Given the description of an element on the screen output the (x, y) to click on. 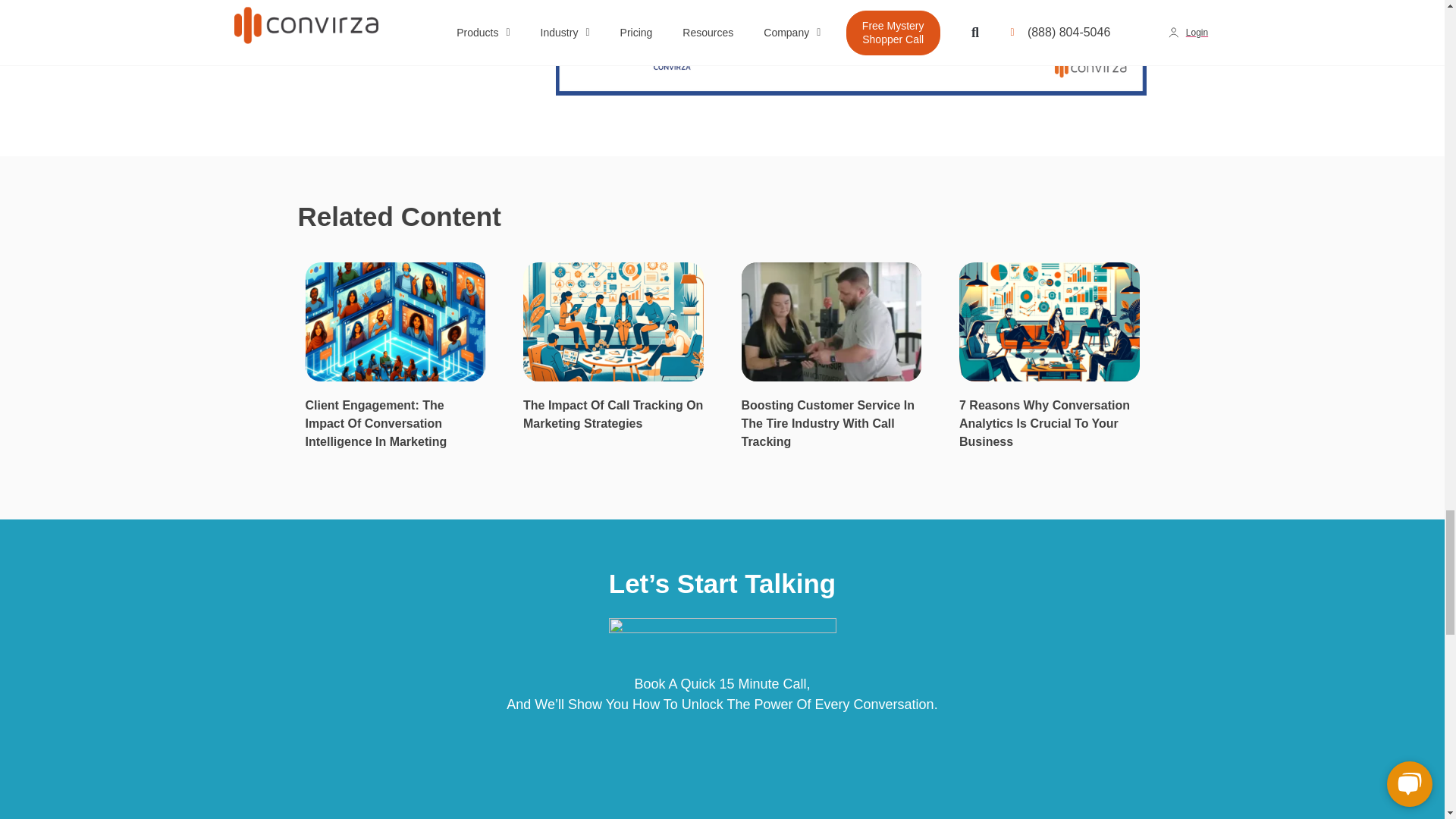
Form 0 (722, 780)
